Given the description of an element on the screen output the (x, y) to click on. 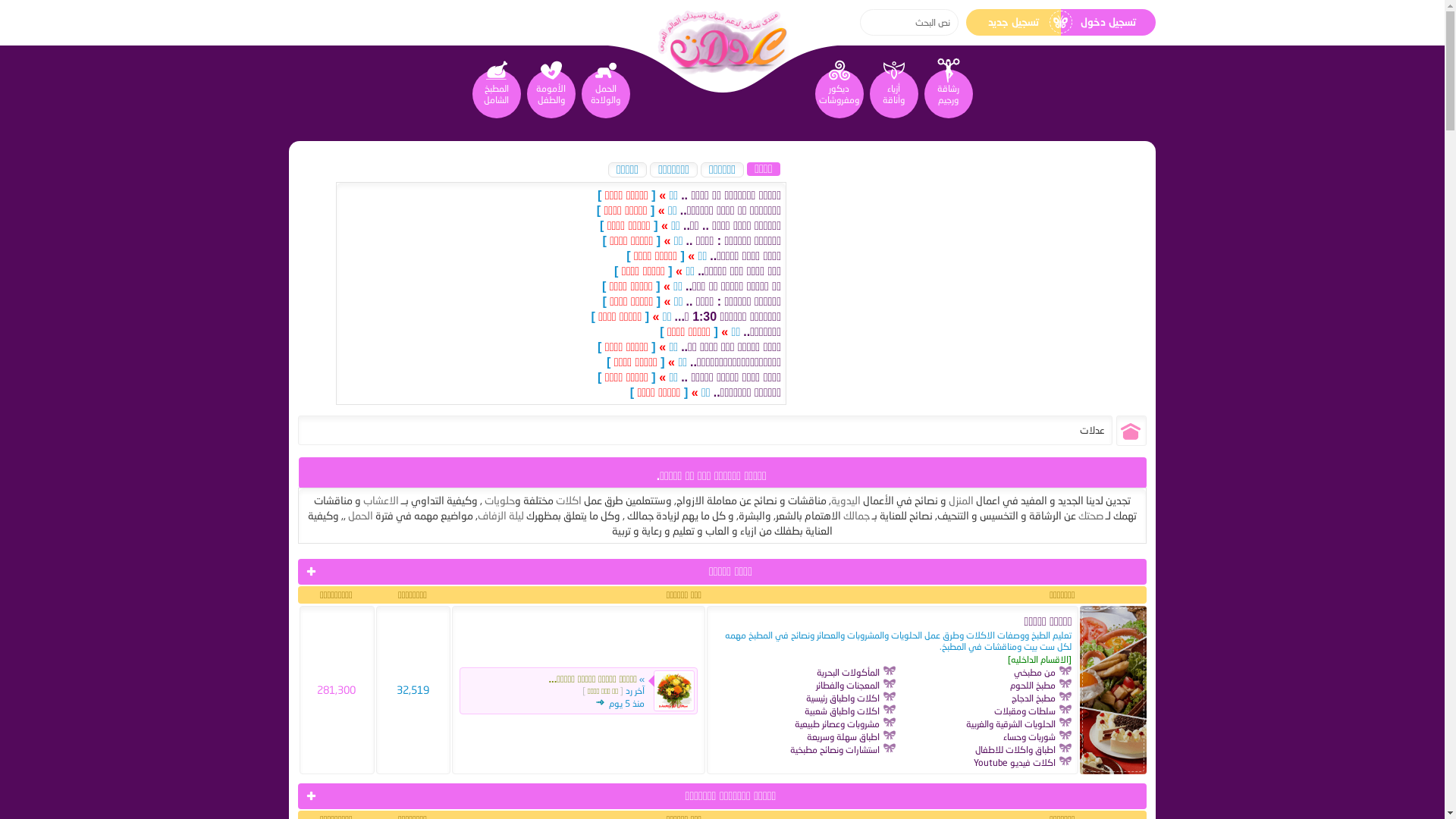
Advertisement Element type: hover (927, 288)
